Given the description of an element on the screen output the (x, y) to click on. 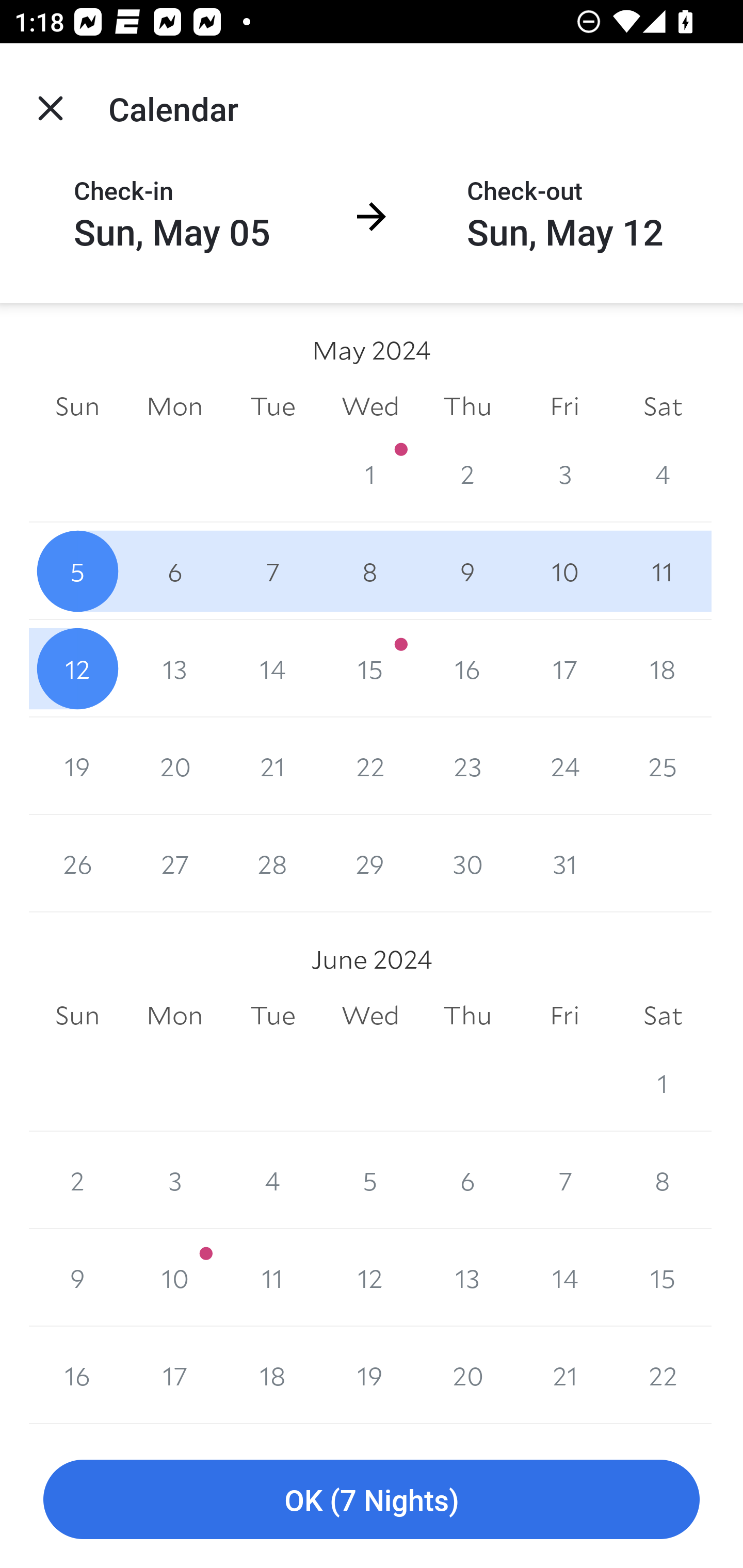
Sun (77, 405)
Mon (174, 405)
Tue (272, 405)
Wed (370, 405)
Thu (467, 405)
Fri (564, 405)
Sat (662, 405)
1 1 May 2024 (370, 473)
2 2 May 2024 (467, 473)
3 3 May 2024 (564, 473)
4 4 May 2024 (662, 473)
5 5 May 2024 (77, 570)
6 6 May 2024 (174, 570)
7 7 May 2024 (272, 570)
8 8 May 2024 (370, 570)
9 9 May 2024 (467, 570)
10 10 May 2024 (564, 570)
11 11 May 2024 (662, 570)
12 12 May 2024 (77, 668)
13 13 May 2024 (174, 668)
14 14 May 2024 (272, 668)
15 15 May 2024 (370, 668)
16 16 May 2024 (467, 668)
17 17 May 2024 (564, 668)
18 18 May 2024 (662, 668)
19 19 May 2024 (77, 766)
20 20 May 2024 (174, 766)
21 21 May 2024 (272, 766)
22 22 May 2024 (370, 766)
23 23 May 2024 (467, 766)
24 24 May 2024 (564, 766)
25 25 May 2024 (662, 766)
26 26 May 2024 (77, 863)
27 27 May 2024 (174, 863)
28 28 May 2024 (272, 863)
29 29 May 2024 (370, 863)
30 30 May 2024 (467, 863)
31 31 May 2024 (564, 863)
Sun (77, 1015)
Mon (174, 1015)
Tue (272, 1015)
Wed (370, 1015)
Thu (467, 1015)
Fri (564, 1015)
Sat (662, 1015)
1 1 June 2024 (662, 1083)
2 2 June 2024 (77, 1180)
3 3 June 2024 (174, 1180)
4 4 June 2024 (272, 1180)
5 5 June 2024 (370, 1180)
6 6 June 2024 (467, 1180)
7 7 June 2024 (564, 1180)
8 8 June 2024 (662, 1180)
9 9 June 2024 (77, 1277)
10 10 June 2024 (174, 1277)
11 11 June 2024 (272, 1277)
12 12 June 2024 (370, 1277)
13 13 June 2024 (467, 1277)
14 14 June 2024 (564, 1277)
15 15 June 2024 (662, 1277)
16 16 June 2024 (77, 1374)
17 17 June 2024 (174, 1374)
18 18 June 2024 (272, 1374)
19 19 June 2024 (370, 1374)
20 20 June 2024 (467, 1374)
21 21 June 2024 (564, 1374)
22 22 June 2024 (662, 1374)
OK (7 Nights) (371, 1499)
